Given the description of an element on the screen output the (x, y) to click on. 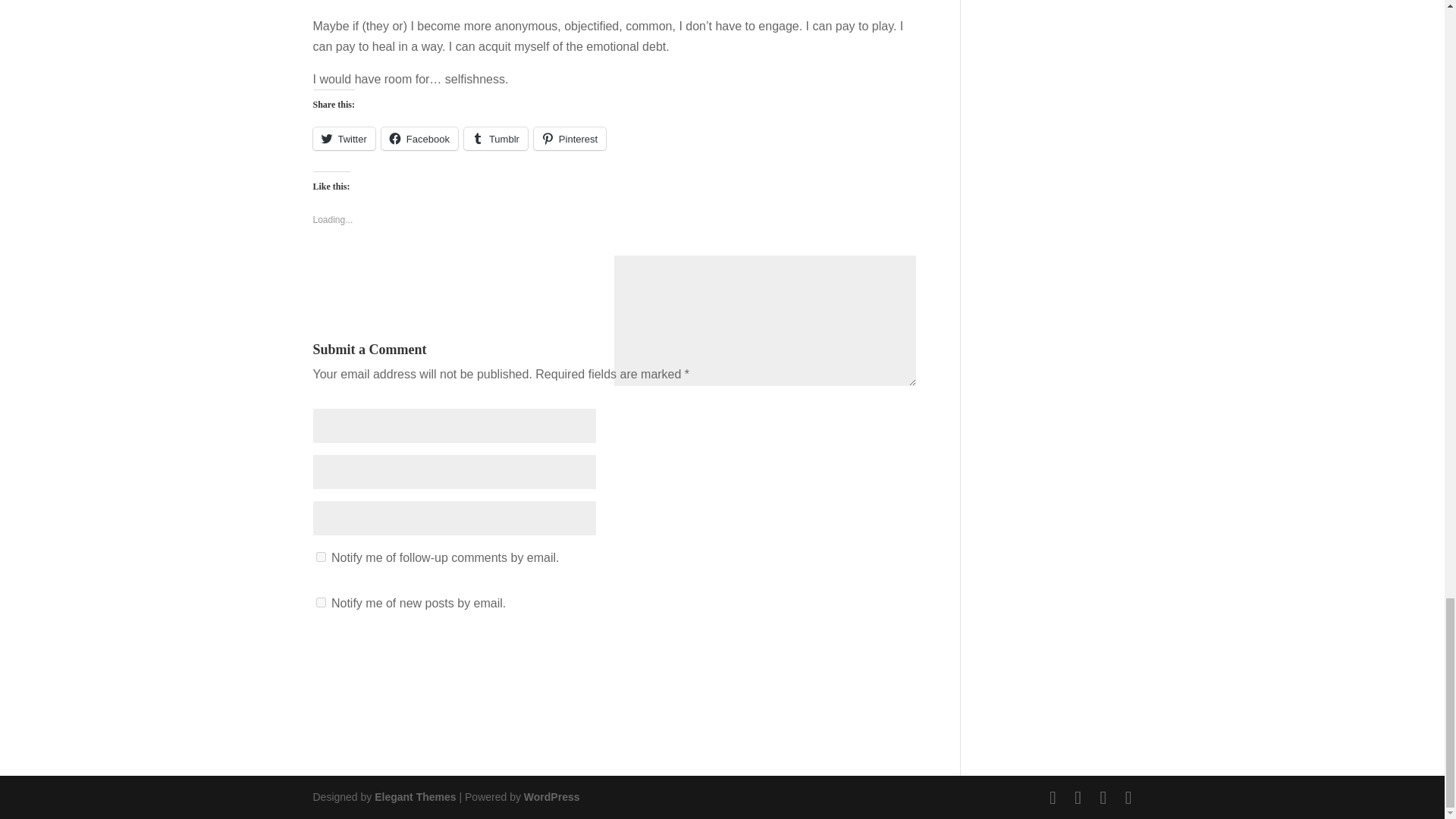
Click to share on Facebook (419, 138)
Premium WordPress Themes (414, 797)
subscribe (319, 556)
Click to share on Twitter (343, 138)
subscribe (319, 602)
Submit Comment (845, 653)
Click to share on Tumblr (495, 138)
Click to share on Pinterest (569, 138)
